Given the description of an element on the screen output the (x, y) to click on. 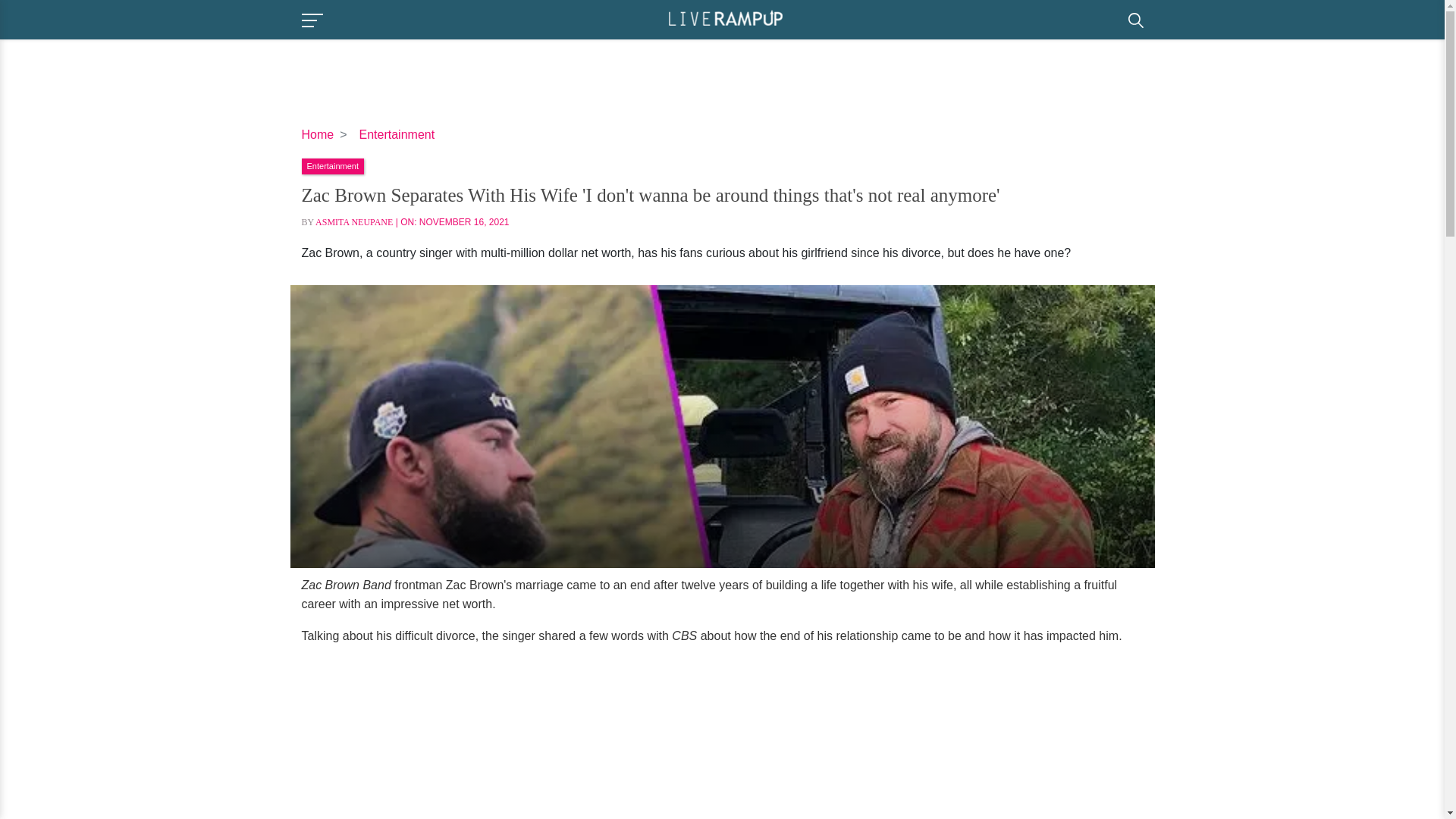
Liverampup (725, 17)
Entertainment (397, 133)
Home (317, 133)
Entertainment (332, 164)
ASMITA NEUPANE (354, 222)
